Given the description of an element on the screen output the (x, y) to click on. 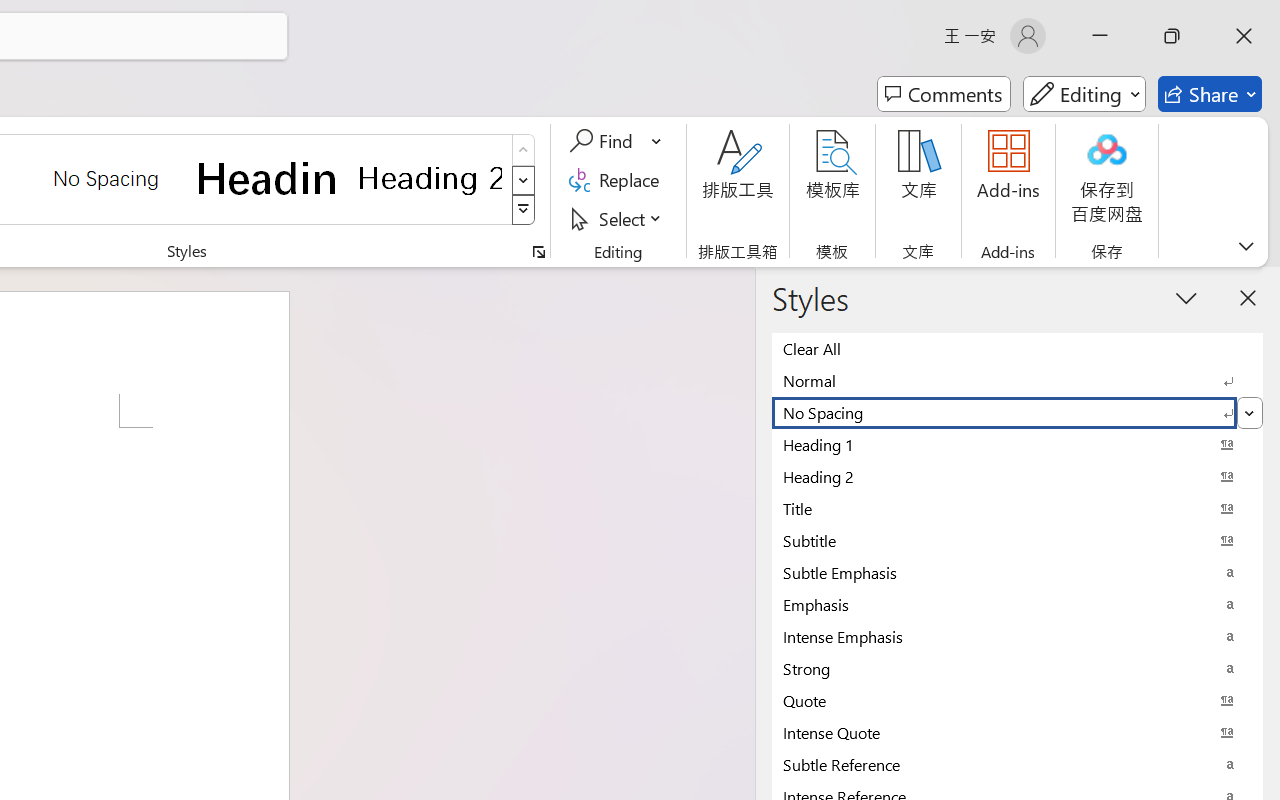
Strong (1017, 668)
Row up (523, 150)
Heading 2 (429, 178)
Emphasis (1017, 604)
No Spacing (1017, 412)
Subtitle (1017, 540)
Intense Emphasis (1017, 636)
Task Pane Options (1186, 297)
